Given the description of an element on the screen output the (x, y) to click on. 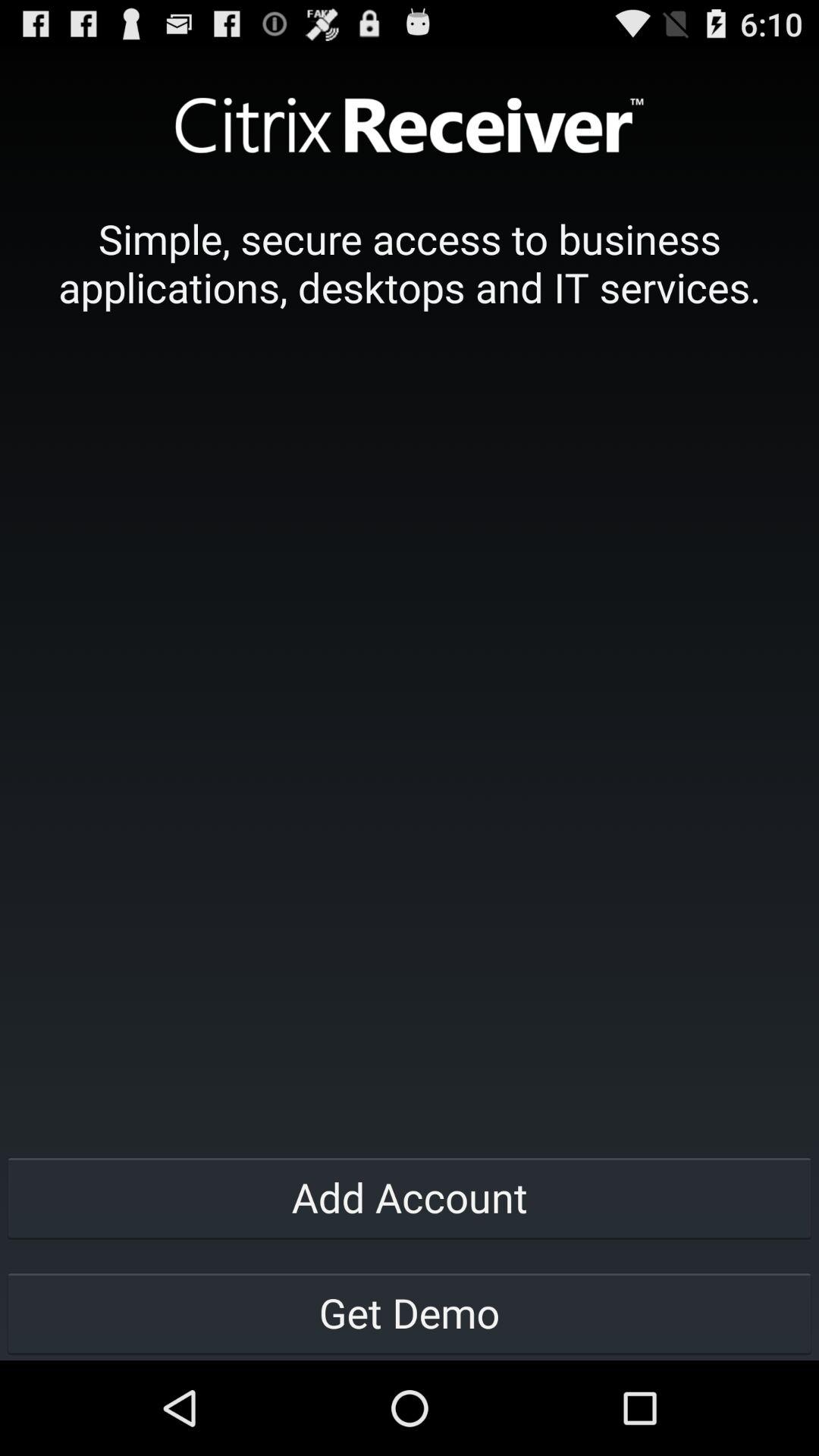
turn on icon below simple secure access app (409, 1196)
